Given the description of an element on the screen output the (x, y) to click on. 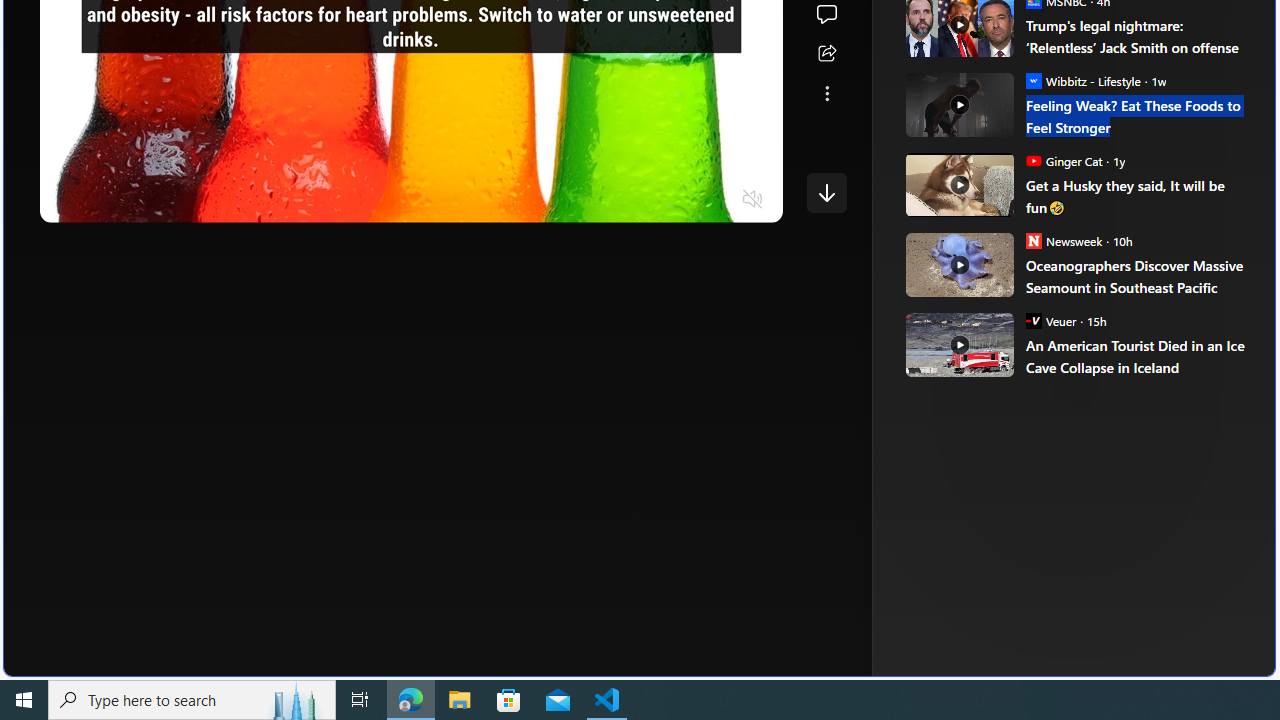
Veuer (1033, 320)
Wibbitz - Lifestyle Wibbitz - Lifestyle (1082, 80)
Unmute (753, 200)
ABC News (974, 12)
Class: control (826, 192)
Seek Forward (150, 200)
Share this story (826, 53)
Newsweek (1033, 240)
Newsweek Newsweek (1064, 240)
